Given the description of an element on the screen output the (x, y) to click on. 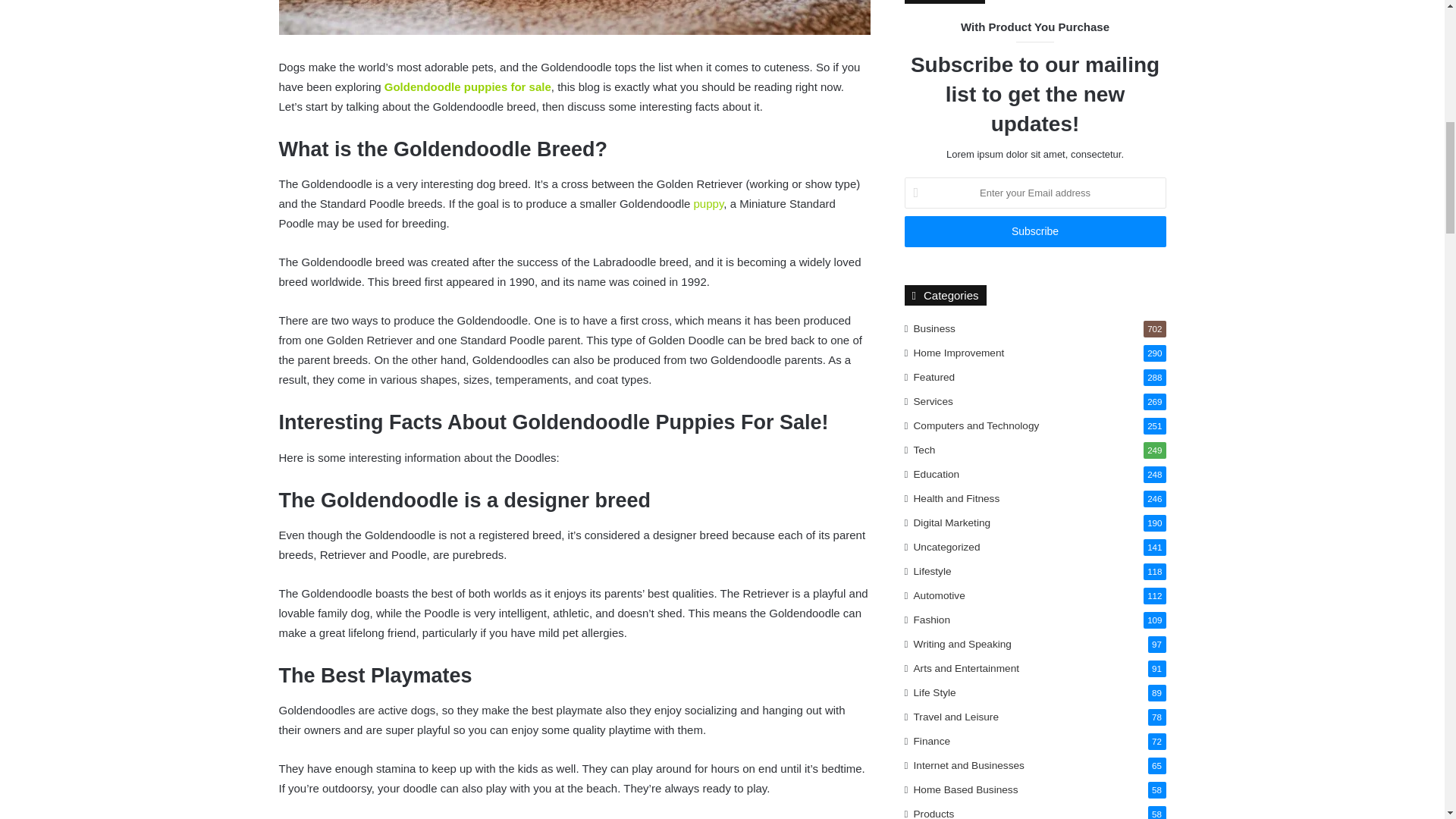
puppy (708, 203)
Subscribe (1035, 231)
Goldendoodle puppies for sale (467, 86)
